Given the description of an element on the screen output the (x, y) to click on. 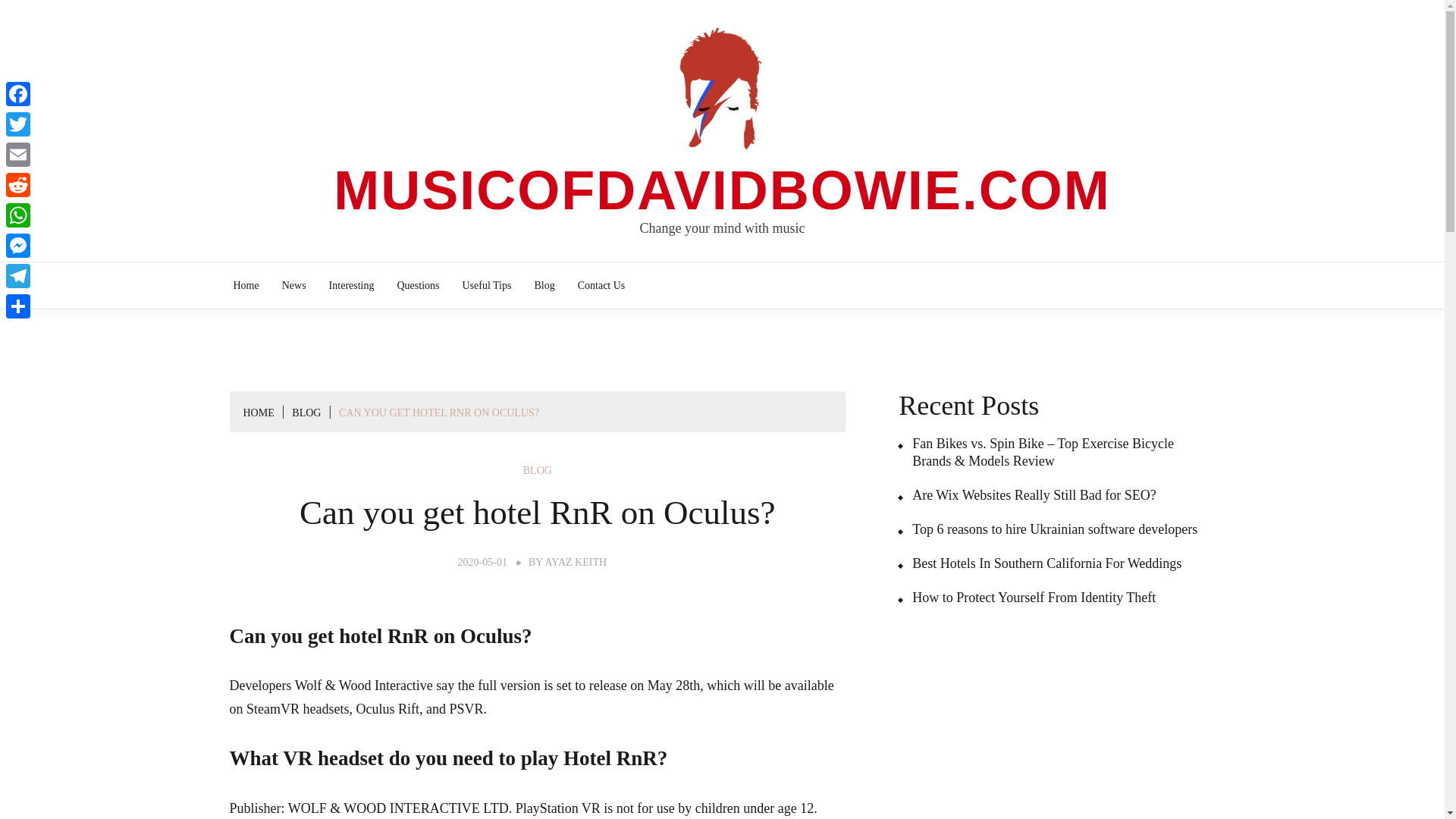
AYAZ KEITH (575, 562)
Best Hotels In Southern California For Weddings (1039, 563)
HOME (258, 412)
Top 6 reasons to hire Ukrainian software developers (1047, 529)
BLOG (306, 412)
Reddit (17, 184)
Email (17, 154)
Email (17, 154)
CAN YOU GET HOTEL RNR ON OCULUS? (438, 412)
Interesting (351, 285)
